Given the description of an element on the screen output the (x, y) to click on. 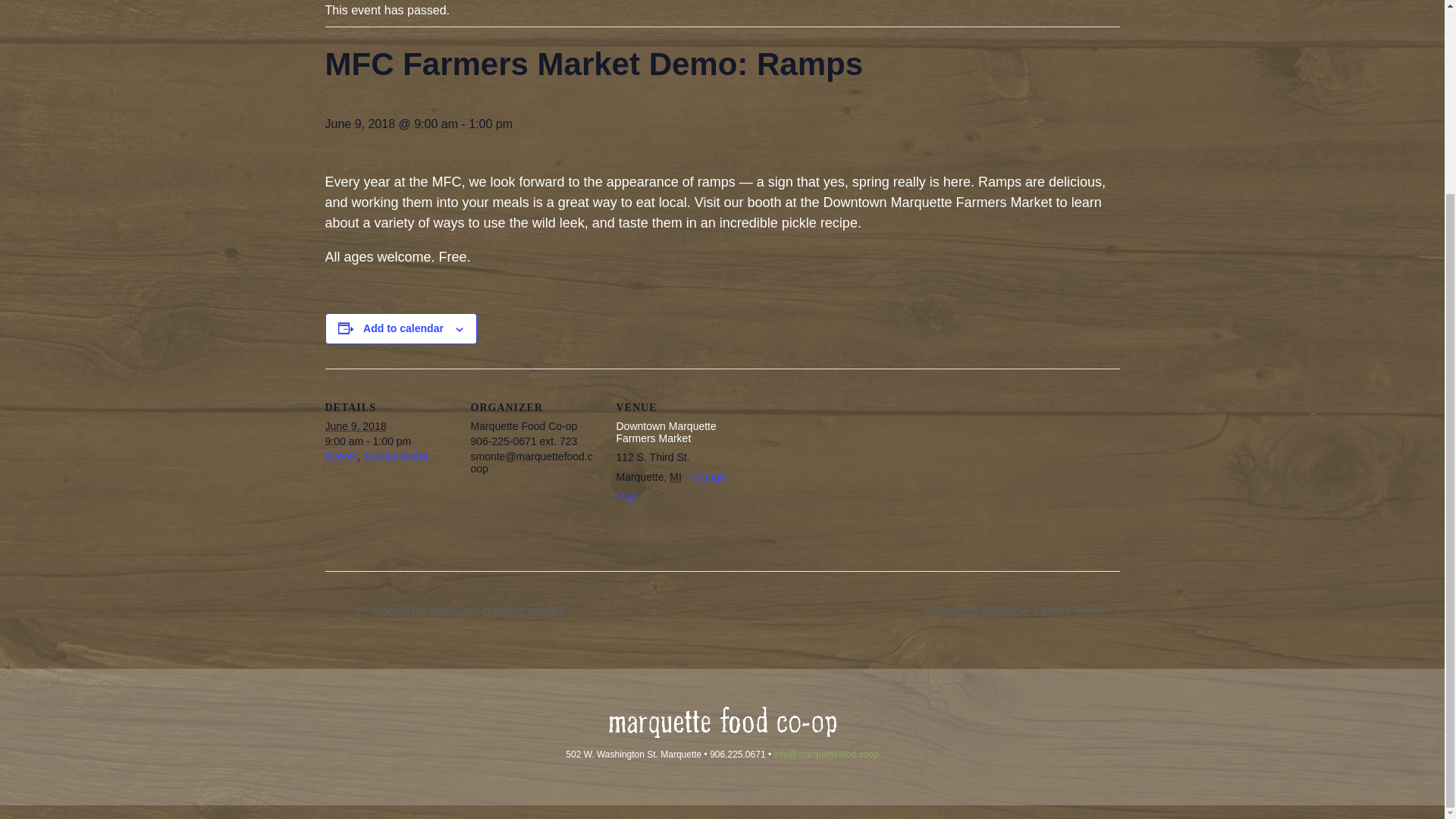
2018-06-09 (354, 426)
Michigan (675, 476)
Click to view a Google Map (671, 486)
2018-06-09 (387, 440)
